Given the description of an element on the screen output the (x, y) to click on. 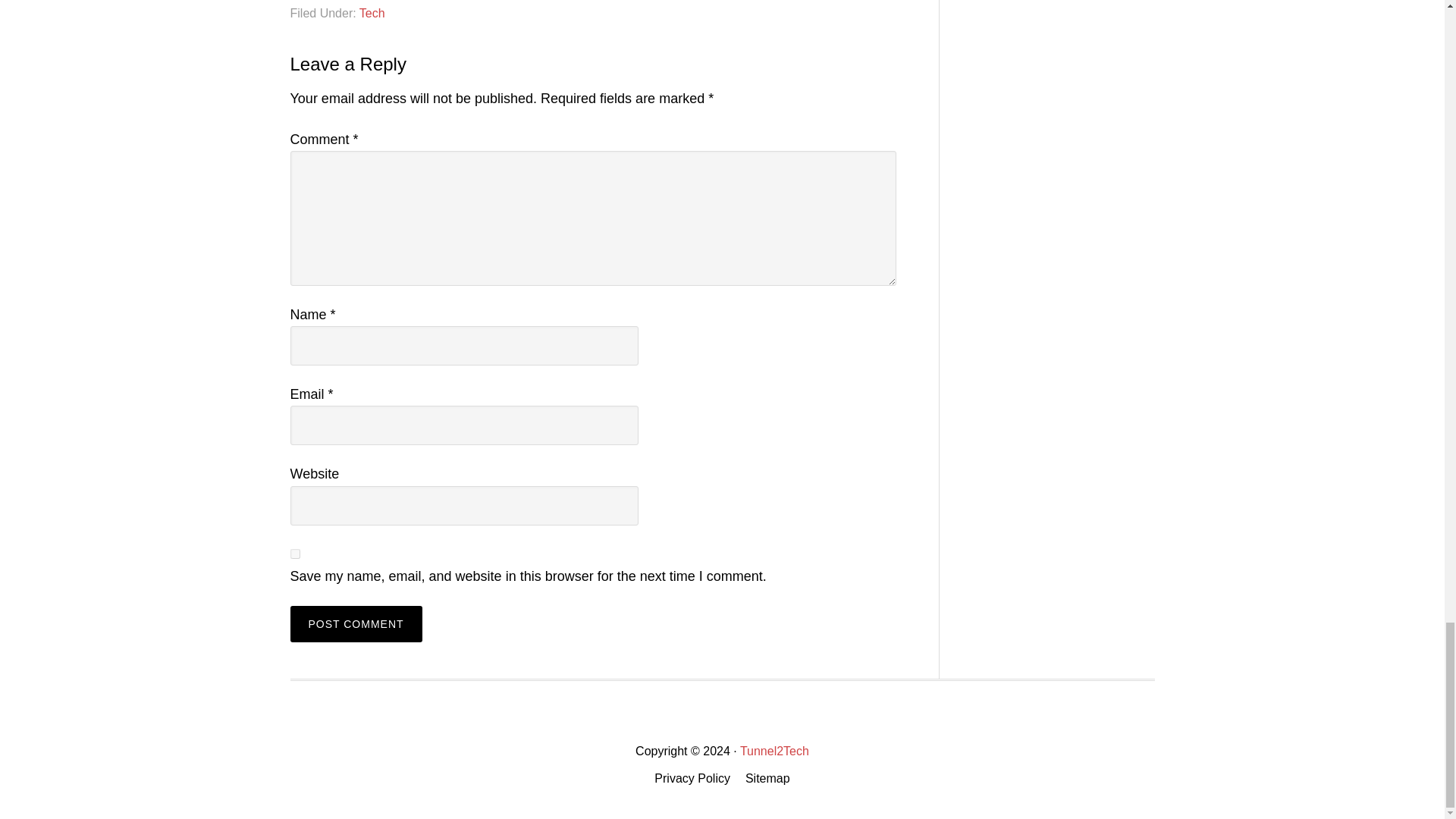
Post Comment (355, 624)
yes (294, 553)
Post Comment (355, 624)
Tech (372, 12)
